Given the description of an element on the screen output the (x, y) to click on. 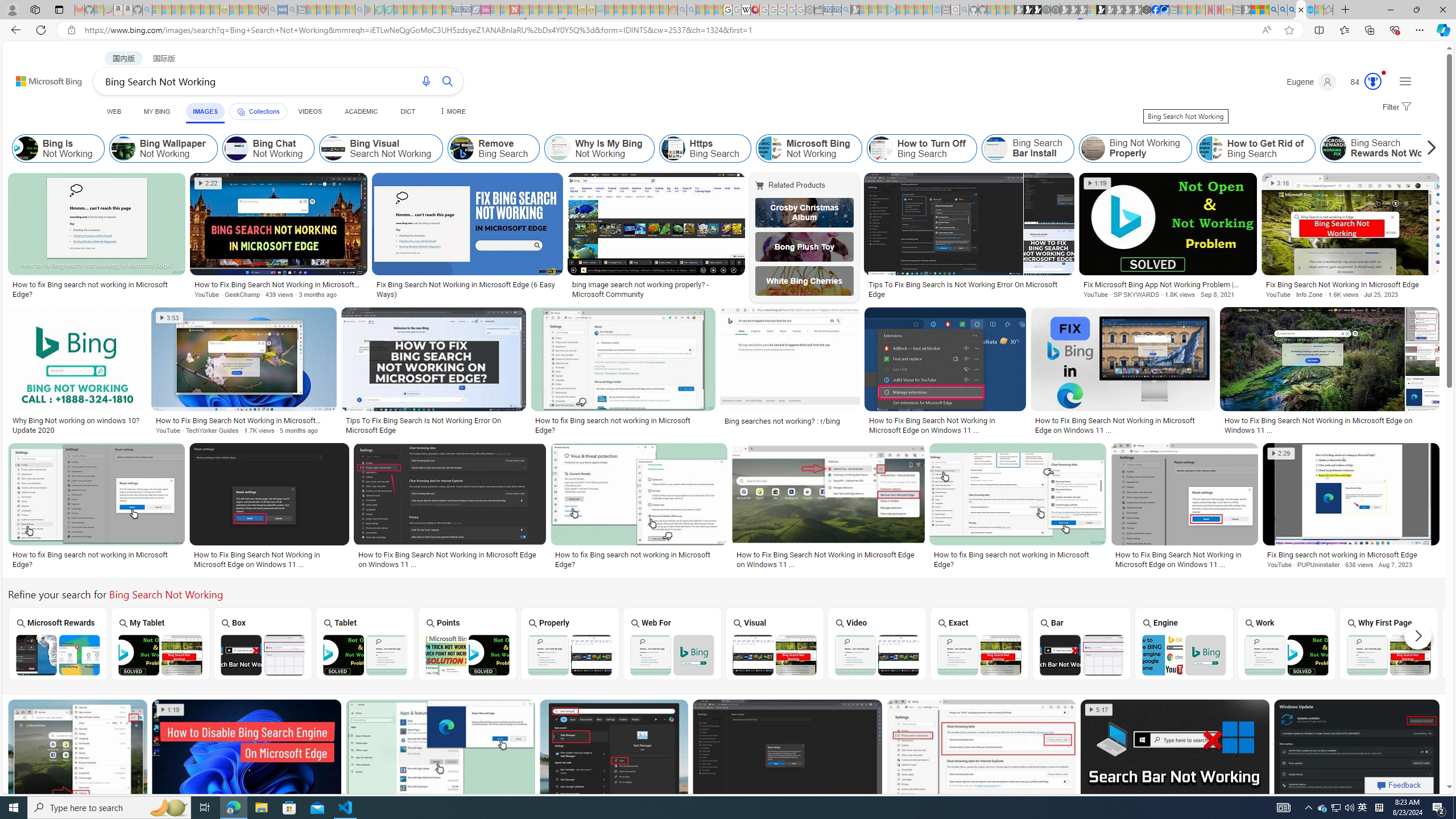
Sign in to your account - Sleeping (1090, 9)
Microsoft Rewards (56, 643)
Bing Search Bar Install (996, 148)
MY BING (156, 111)
Remove Bing Search (494, 148)
WEB (114, 111)
